Given the description of an element on the screen output the (x, y) to click on. 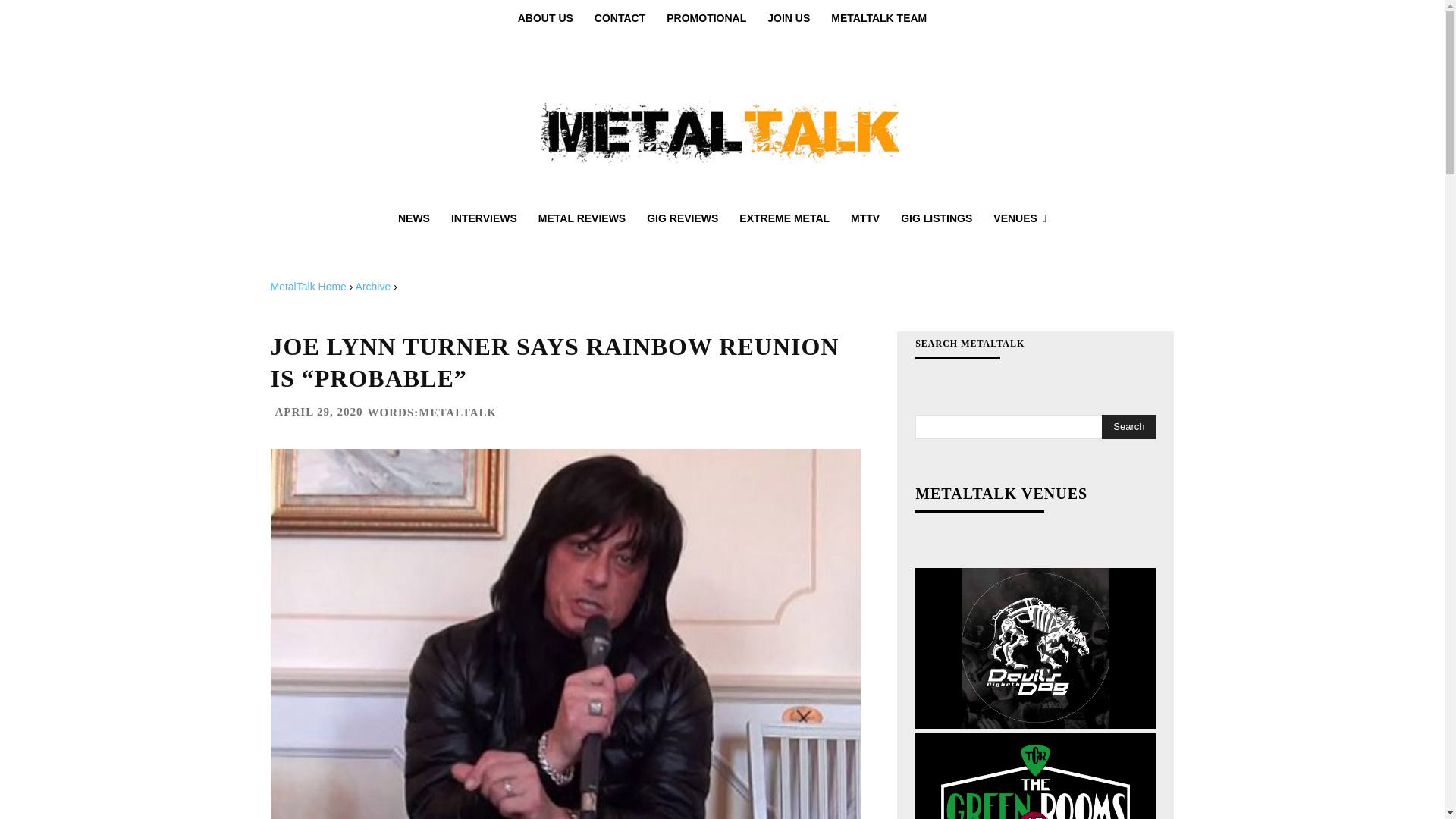
VENUES (1019, 217)
Archive (373, 286)
JOIN US (789, 18)
MetalTalk Home (307, 286)
METALTALK TEAM (879, 18)
ABOUT US (544, 18)
GIG LISTINGS (935, 217)
METAL REVIEWS (581, 217)
GIG REVIEWS (682, 217)
